Given the description of an element on the screen output the (x, y) to click on. 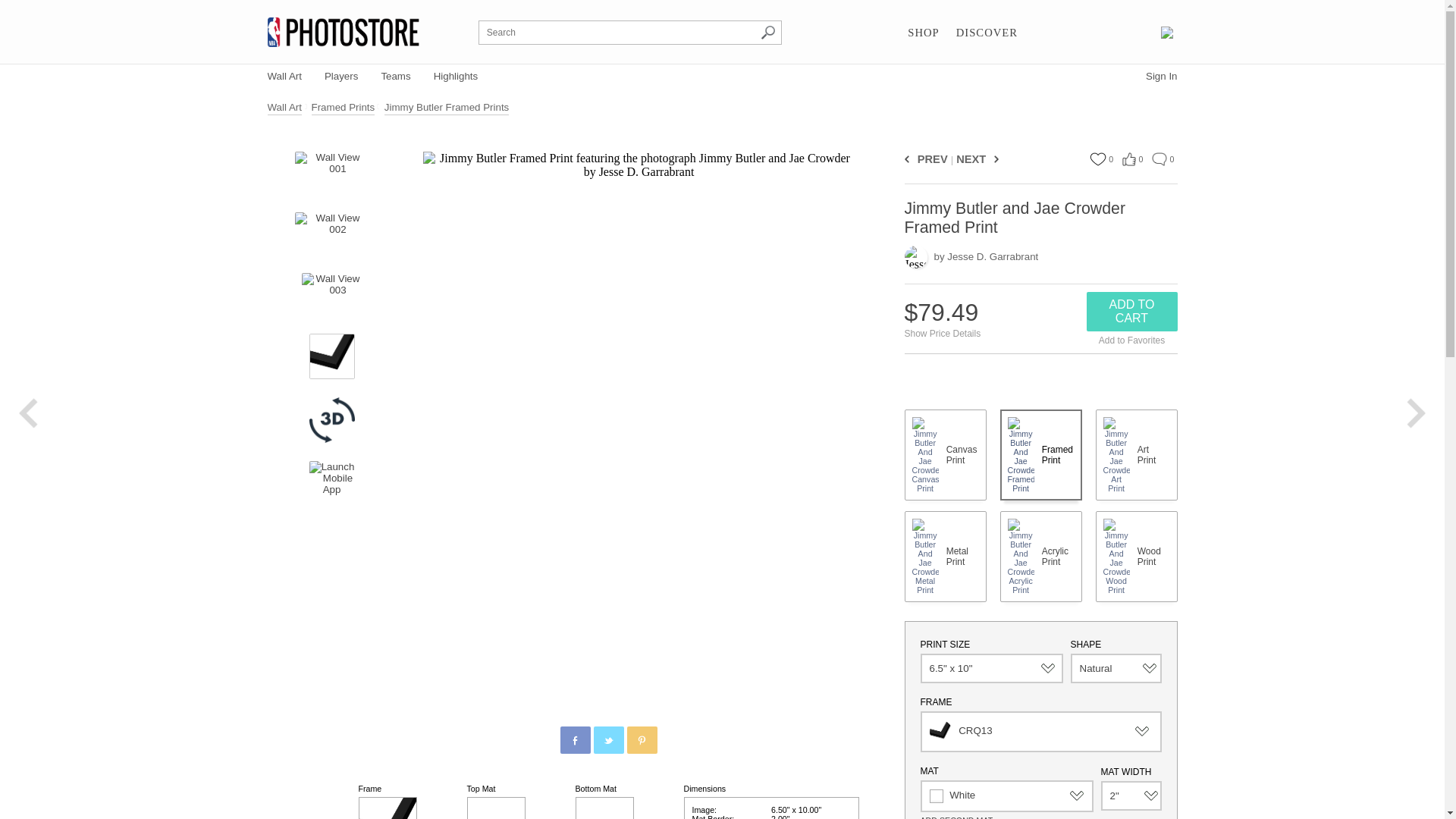
Top Mat (496, 807)
Twitter (609, 740)
DISCOVER (987, 32)
Share Product on Facebook (574, 739)
Share Product on Twitter (607, 739)
Facebook (575, 740)
Frame Detail (331, 356)
SHOP (922, 32)
Wall View 002 (331, 234)
Favorite (1097, 159)
3D View (331, 420)
Selected Frame (387, 807)
Search (767, 32)
NBA Photo Store (342, 31)
Pinterest (642, 740)
